Given the description of an element on the screen output the (x, y) to click on. 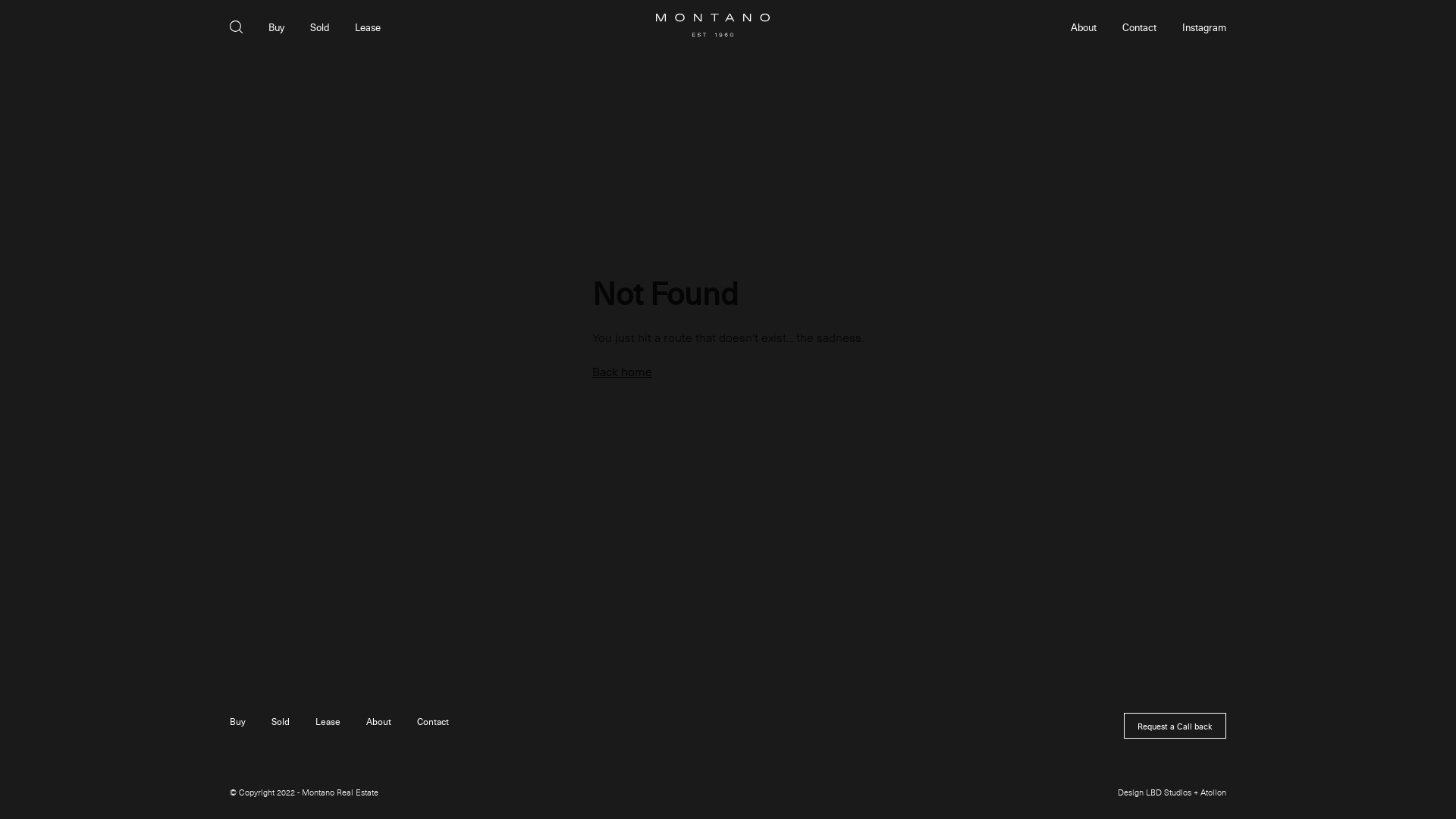
Sold Element type: text (280, 721)
Buy Element type: text (276, 27)
Buy Element type: text (237, 721)
About Element type: text (1083, 27)
Back home Element type: text (622, 371)
Atollon Element type: text (1213, 792)
Instagram Element type: text (1204, 27)
Contact Element type: text (432, 721)
Contact Element type: text (1139, 27)
About Element type: text (378, 721)
Lease Element type: text (367, 27)
Lease Element type: text (327, 721)
Sold Element type: text (319, 27)
LBD Studios Element type: text (1168, 792)
